Given the description of an element on the screen output the (x, y) to click on. 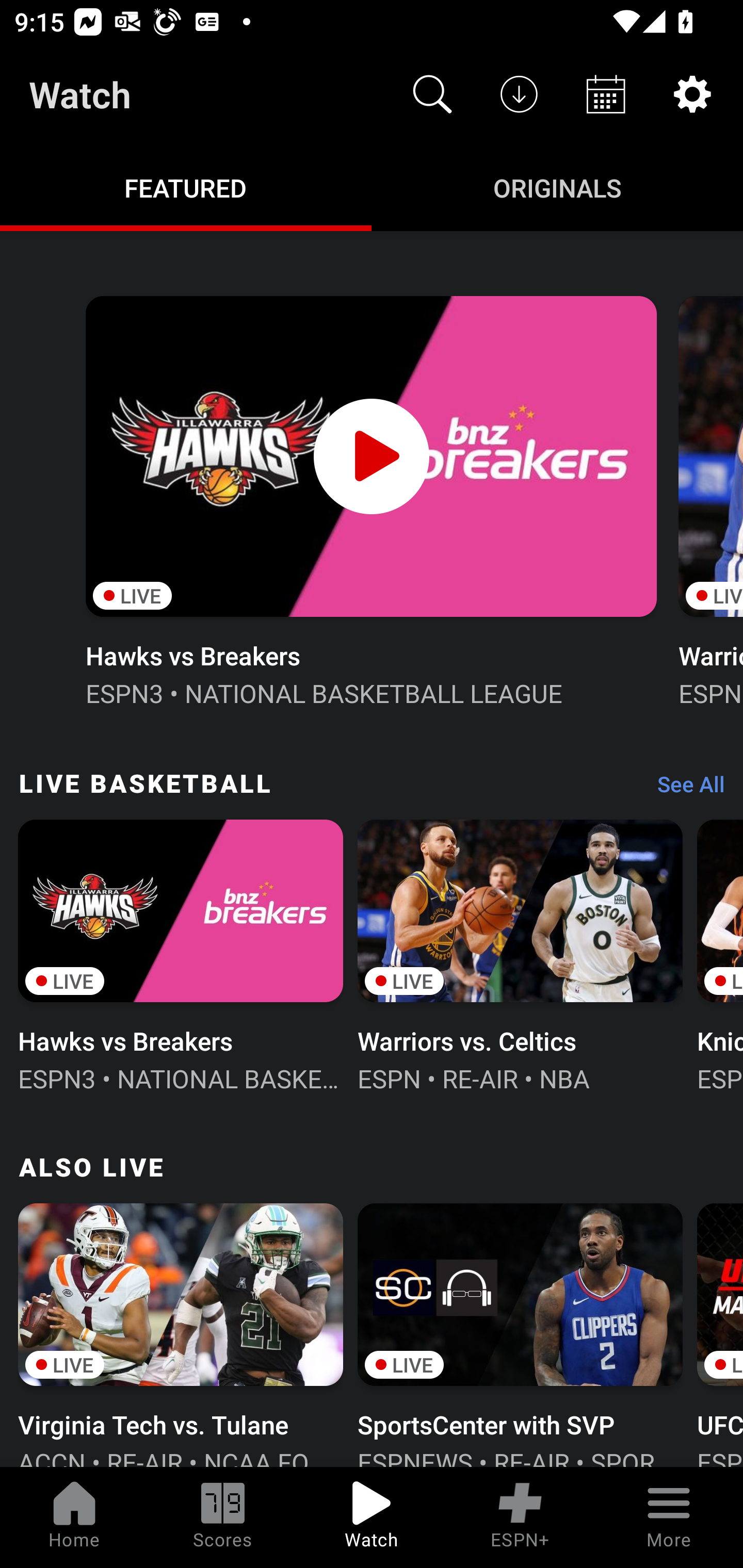
Search (432, 93)
Downloads (518, 93)
Schedule (605, 93)
Settings (692, 93)
Originals ORIGINALS (557, 187)
See All (683, 788)
LIVE Warriors vs. Celtics ESPN • RE-AIR • NBA (519, 954)
Home (74, 1517)
Scores (222, 1517)
ESPN+ (519, 1517)
More (668, 1517)
